Given the description of an element on the screen output the (x, y) to click on. 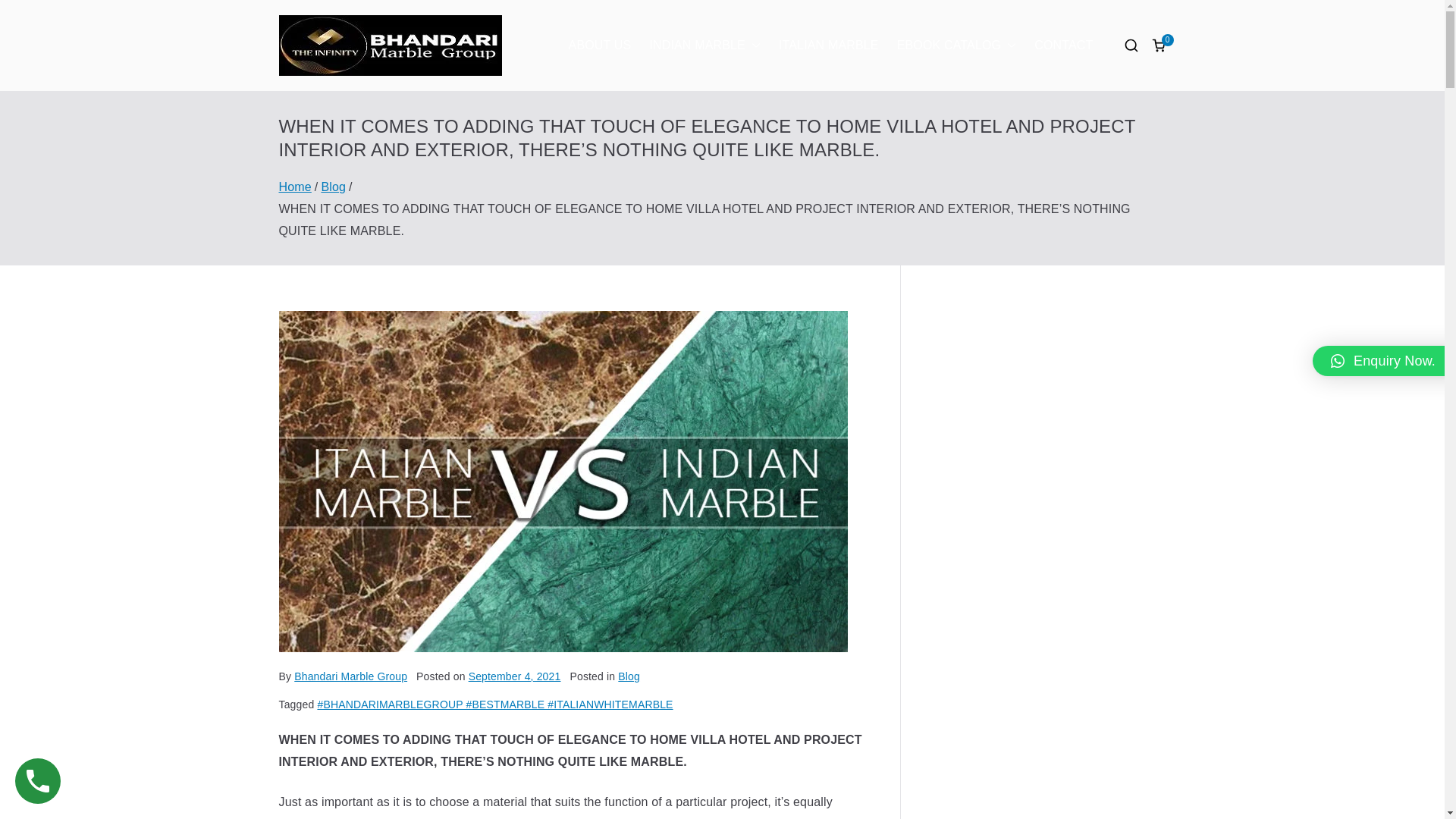
0 (1158, 45)
Best marble (604, 64)
Blog (333, 186)
View your shopping cart (1158, 45)
Blog (628, 676)
INDIAN MARBLE (704, 45)
September 4, 2021 (514, 676)
EBOOK CATALOG (956, 45)
CONTACT (1063, 45)
Home (295, 186)
